Given the description of an element on the screen output the (x, y) to click on. 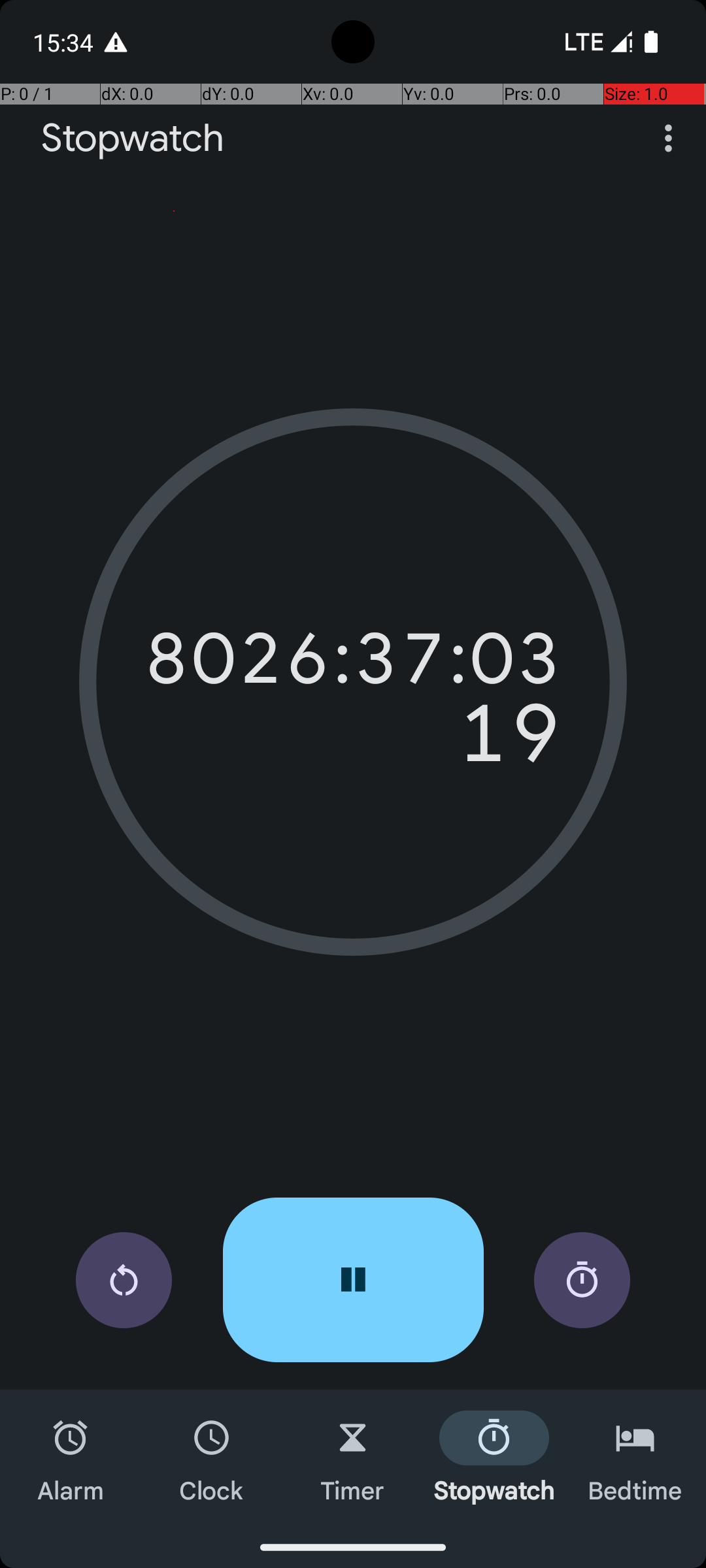
Pause Element type: android.widget.Button (352, 1279)
Lap Element type: android.widget.ImageButton (582, 1280)
8026:36:58 Element type: android.widget.TextView (352, 658)
